Given the description of an element on the screen output the (x, y) to click on. 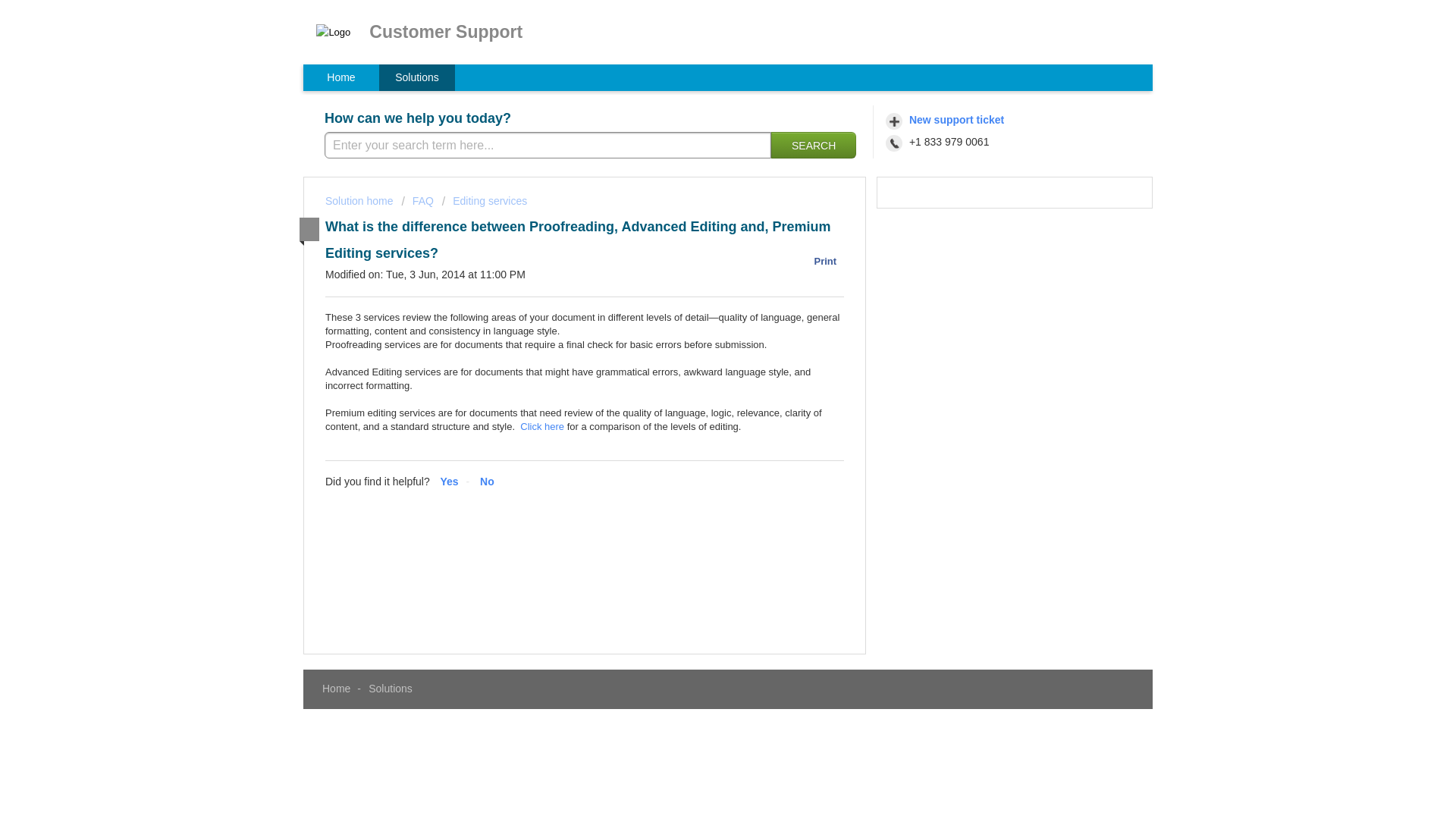
FAQ (416, 200)
Click here (541, 426)
Print (818, 261)
New support ticket (946, 120)
SEARCH (813, 144)
Home (335, 688)
New support ticket (946, 120)
Solutions (390, 688)
Print this Article (818, 261)
Editing services (484, 200)
Home (340, 77)
Solution home (360, 200)
Solutions (416, 77)
